Given the description of an element on the screen output the (x, y) to click on. 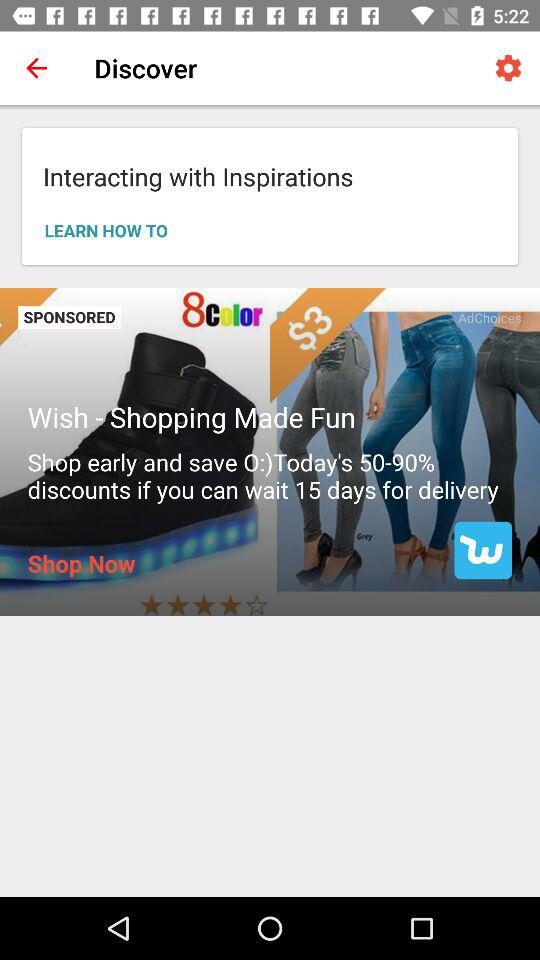
press the icon to the left of discover (36, 68)
